Given the description of an element on the screen output the (x, y) to click on. 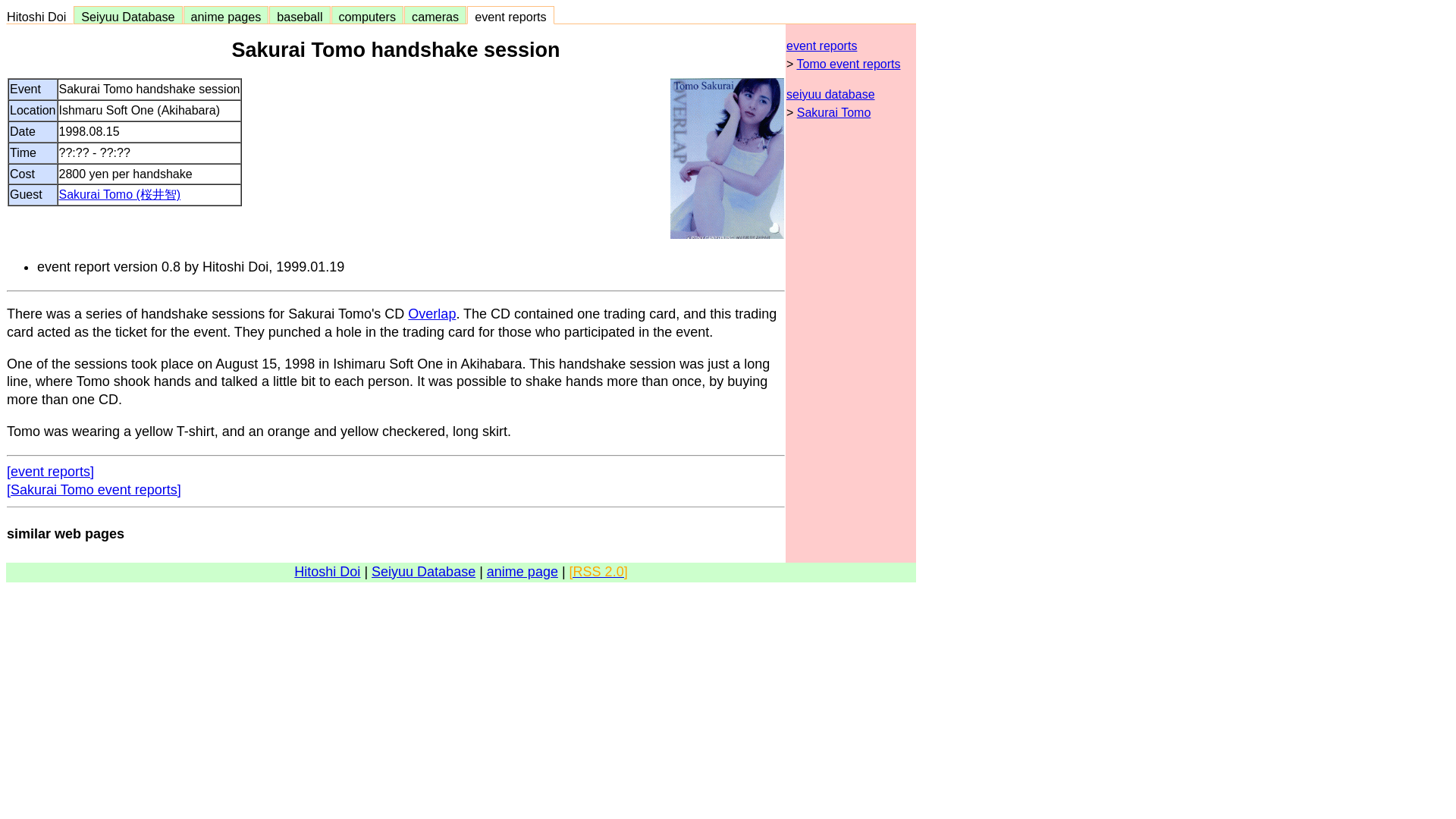
Tomo event reports (847, 63)
event reports (821, 45)
  event reports   (510, 17)
  anime pages   (225, 17)
  computers   (367, 17)
  Seiyuu Database   (127, 17)
Overlap (431, 313)
Sakurai Tomo (833, 112)
Hitoshi Doi   (39, 17)
  baseball   (299, 17)
